Given the description of an element on the screen output the (x, y) to click on. 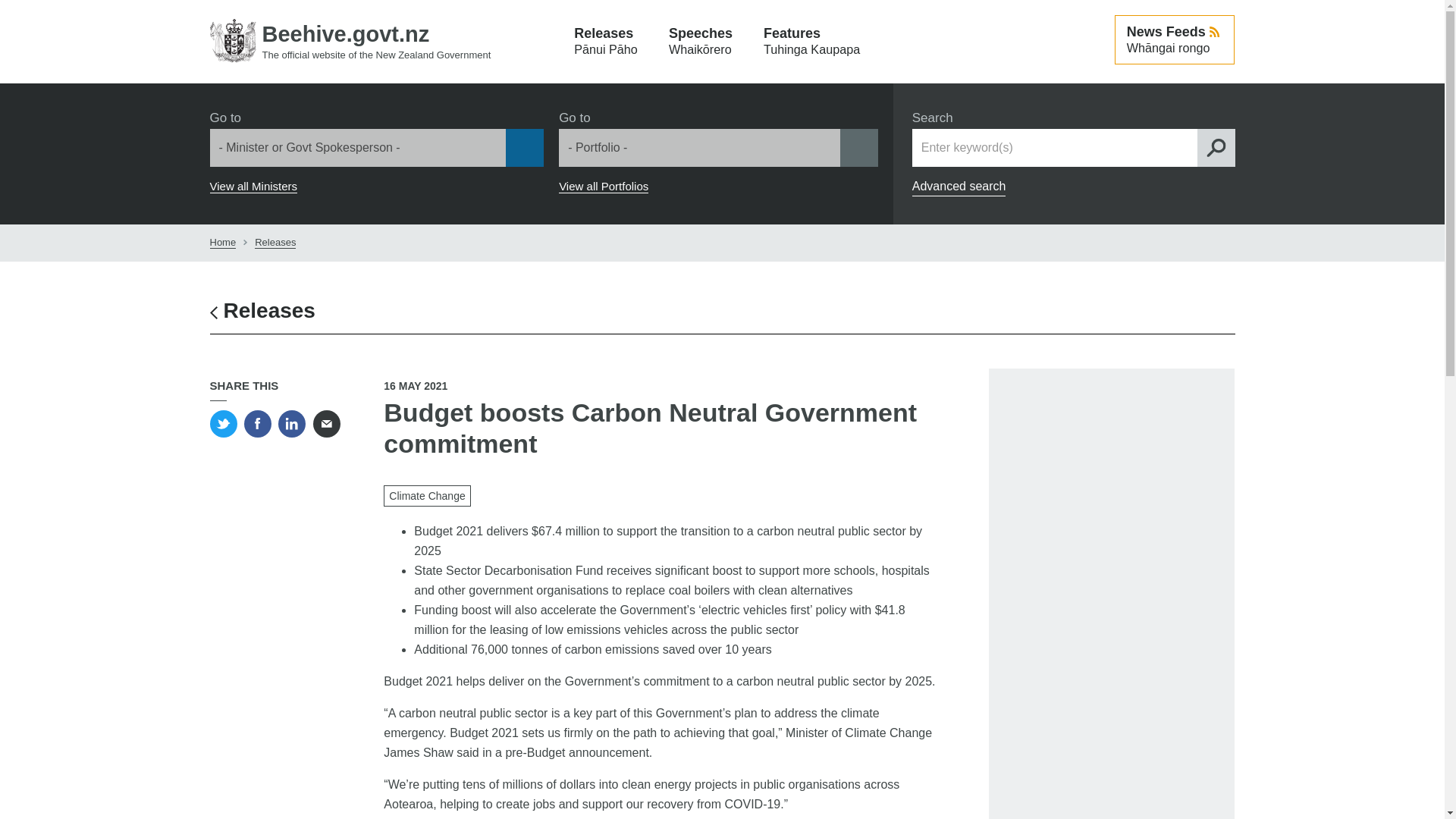
View all Portfolios (603, 186)
Linkedin (291, 423)
Releases (274, 242)
Go (16, 13)
Advanced search (959, 187)
Email (326, 423)
News Feeds (1174, 39)
Features (811, 41)
Search (811, 41)
View all Ministers (1215, 147)
Releases (253, 186)
Facebook (261, 310)
Home (257, 423)
Home (222, 242)
